Given the description of an element on the screen output the (x, y) to click on. 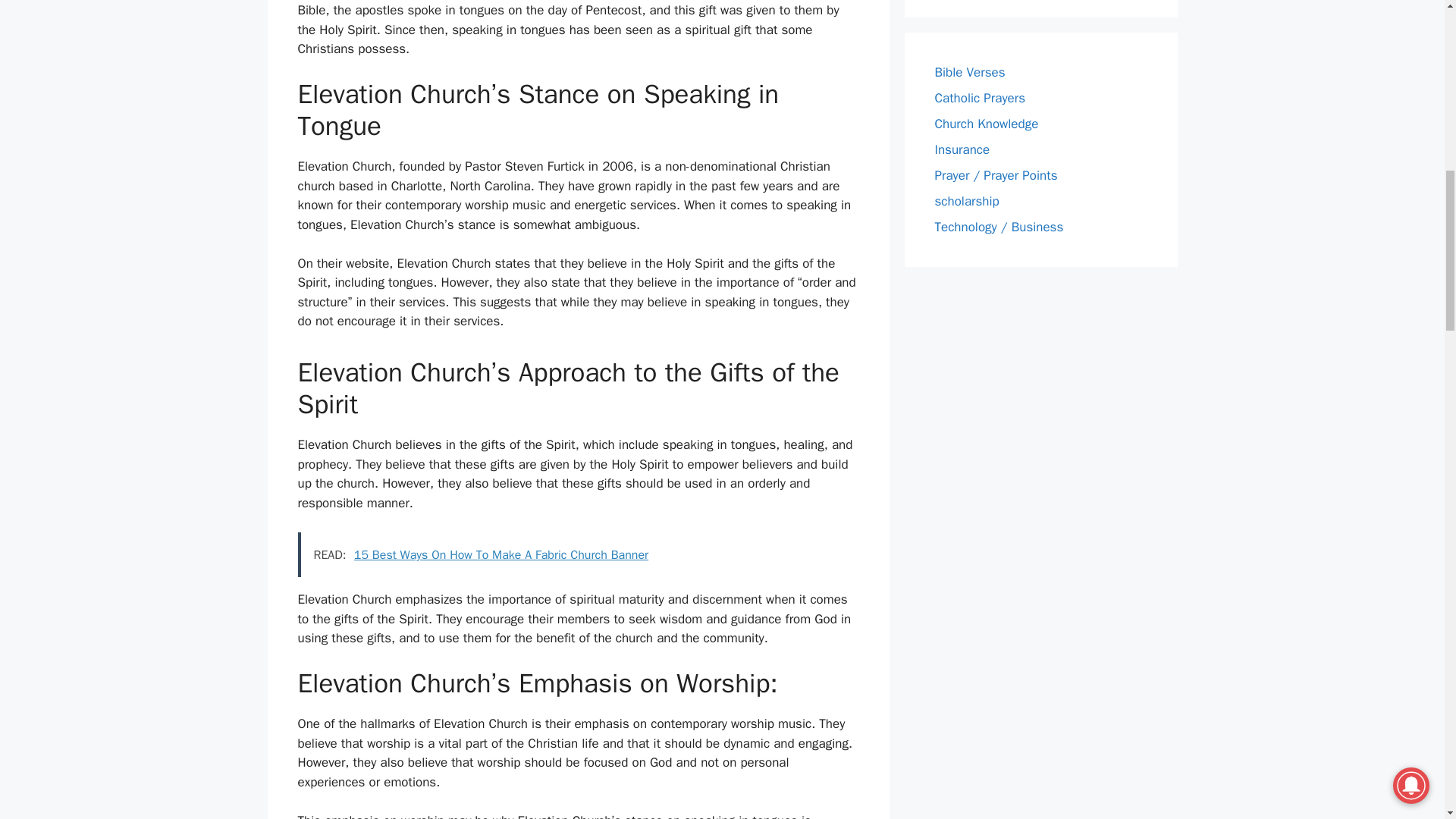
Bible Verses (969, 72)
Church Knowledge (986, 123)
READ:  15 Best Ways On How To Make A Fabric Church Banner (578, 555)
Insurance (962, 149)
Catholic Prayers (979, 98)
scholarship (966, 201)
